Given the description of an element on the screen output the (x, y) to click on. 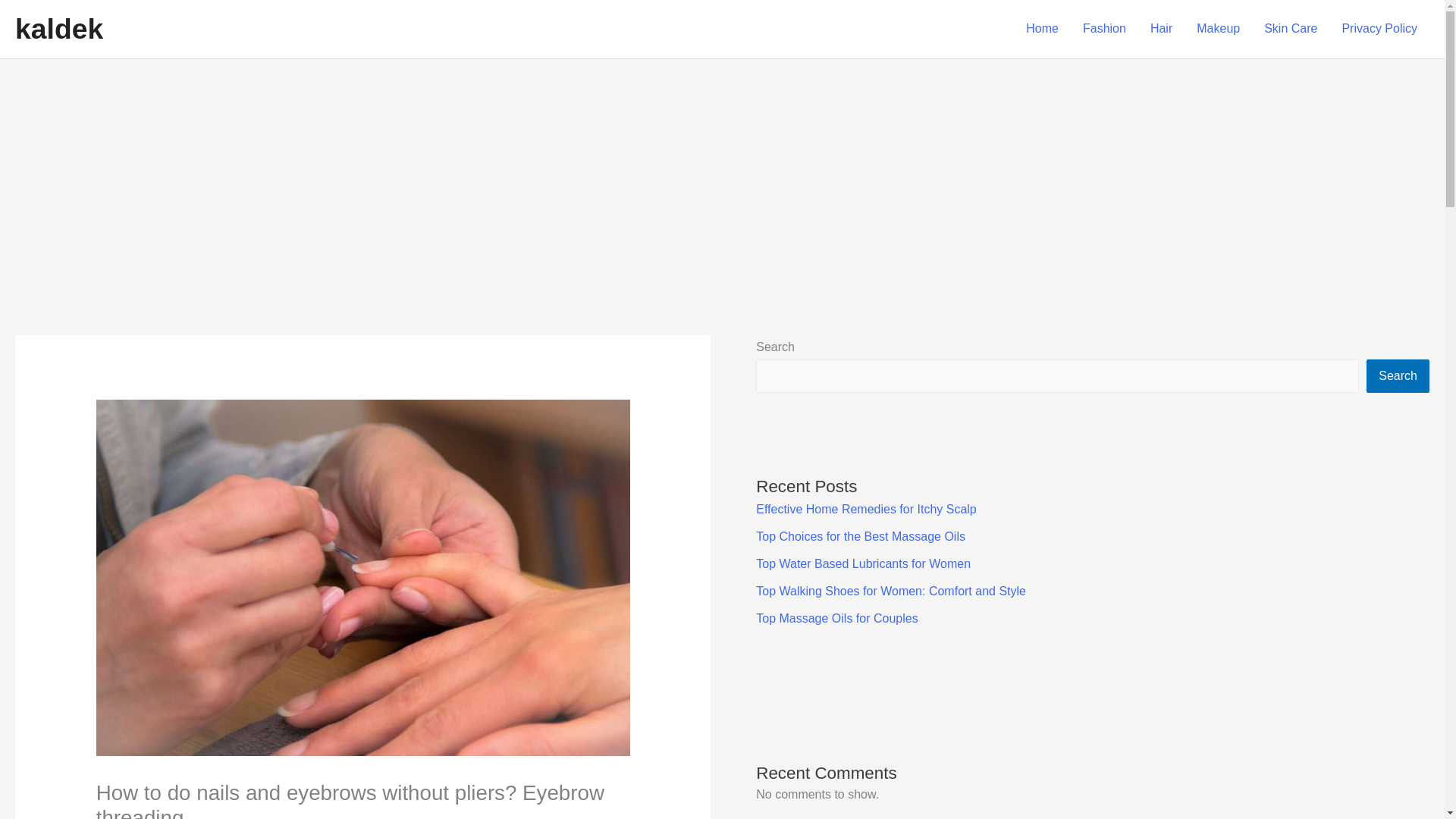
Top Water Based Lubricants for Women (863, 563)
Hair (1161, 28)
Search (1398, 376)
Privacy Policy (1379, 28)
kaldek (58, 29)
Top Walking Shoes for Women: Comfort and Style (890, 590)
Top Massage Oils for Couples (836, 617)
Home (1041, 28)
Skin Care (1290, 28)
Top Choices for the Best Massage Oils (860, 535)
Fashion (1104, 28)
Makeup (1218, 28)
Effective Home Remedies for Itchy Scalp (865, 508)
